Given the description of an element on the screen output the (x, y) to click on. 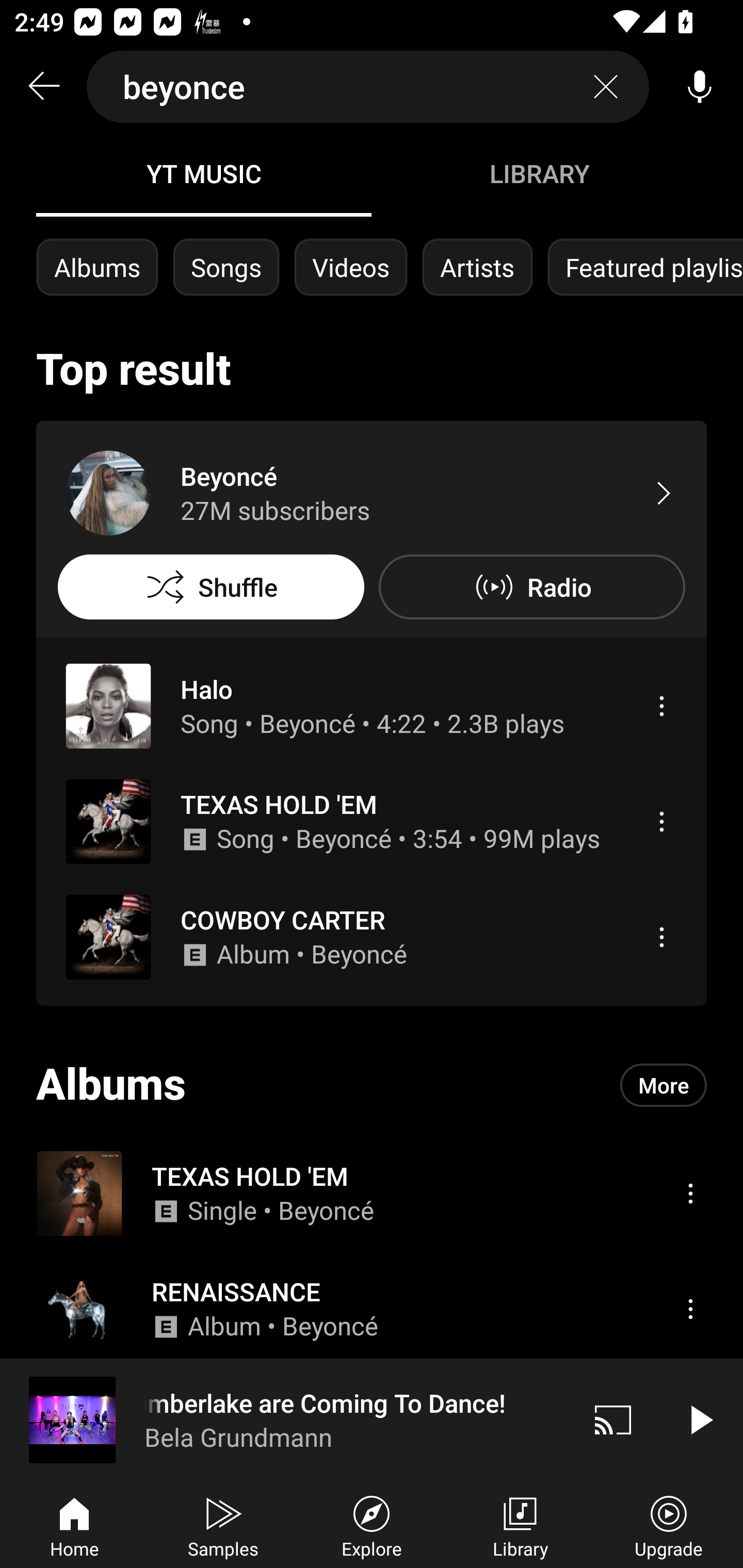
Search back (43, 86)
beyonce (367, 86)
Clear search (605, 86)
Voice search (699, 86)
Library LIBRARY (538, 173)
Shuffle (210, 587)
Radio (531, 587)
Menu (661, 705)
Menu (661, 821)
Menu (661, 937)
Albums More More (371, 1084)
More (663, 1085)
Menu (690, 1193)
Menu (690, 1309)
Cast. Disconnected (612, 1419)
Play video (699, 1419)
Home (74, 1524)
Samples (222, 1524)
Explore (371, 1524)
Library (519, 1524)
Upgrade (668, 1524)
